Given the description of an element on the screen output the (x, y) to click on. 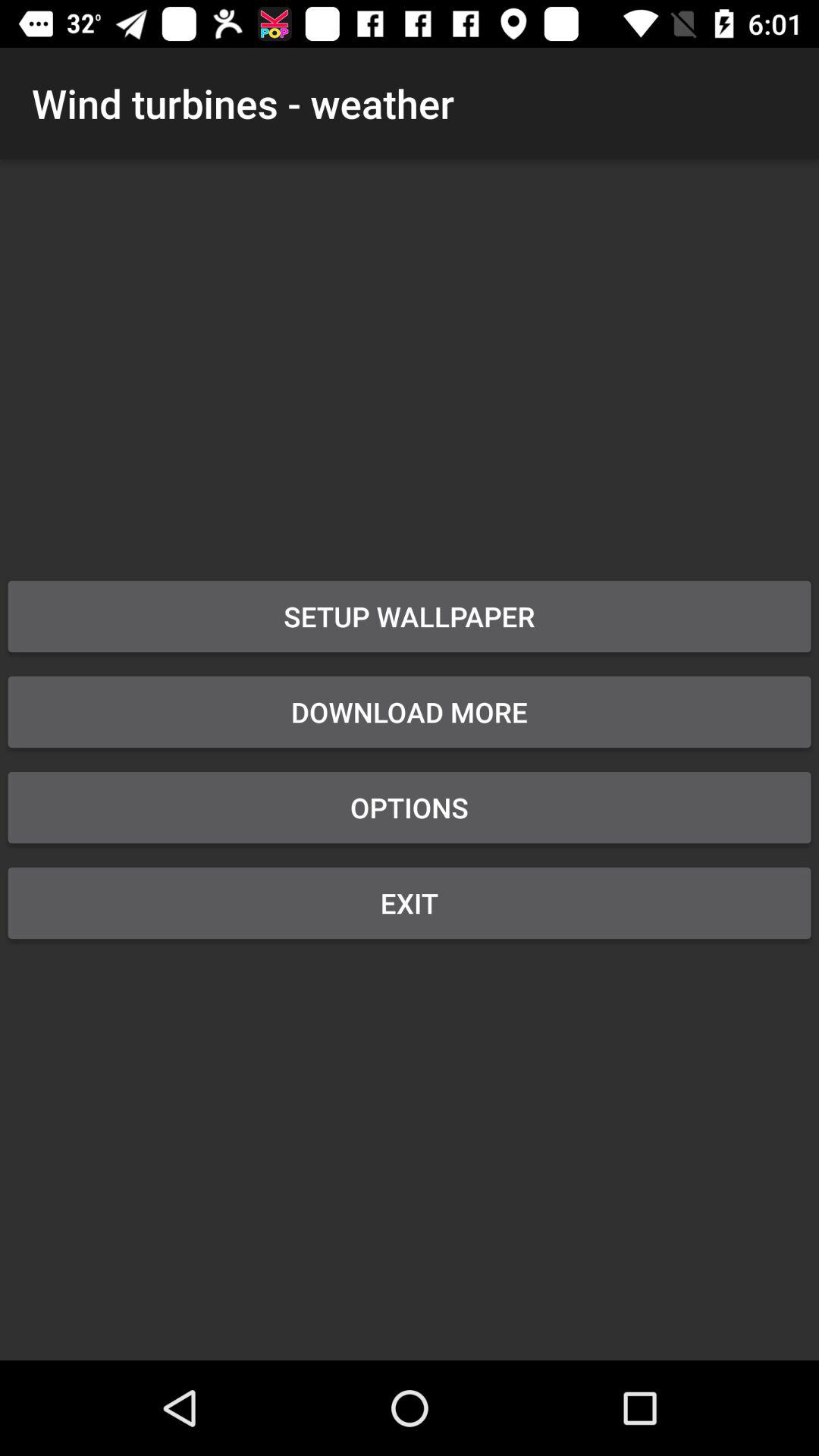
choose button below the setup wallpaper button (409, 711)
